Given the description of an element on the screen output the (x, y) to click on. 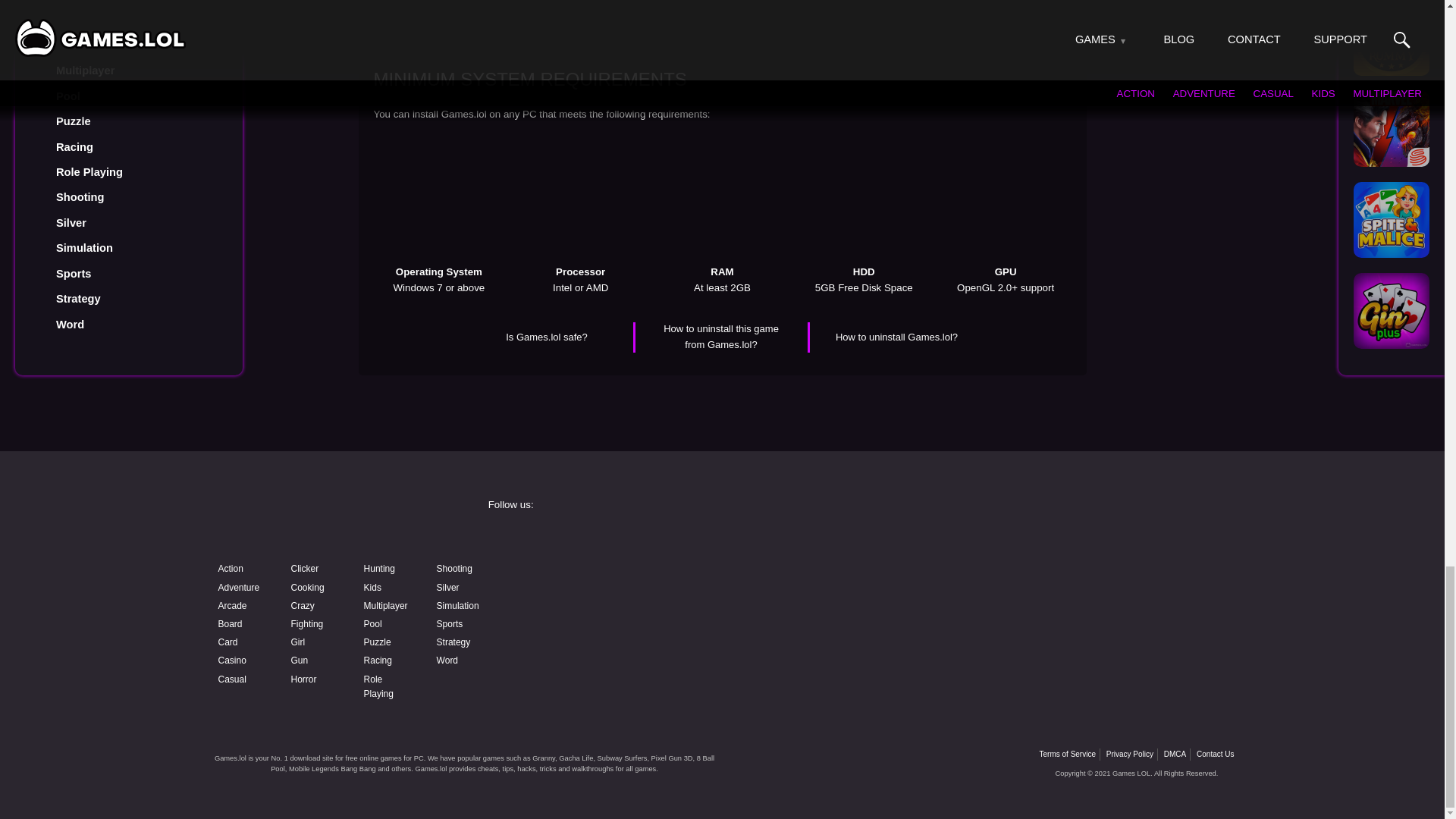
Twitter (1073, 539)
Games.lol free game download website logo (319, 519)
YouTube (603, 579)
Instagram (838, 539)
Facebook (603, 539)
Discord (838, 579)
